Given the description of an element on the screen output the (x, y) to click on. 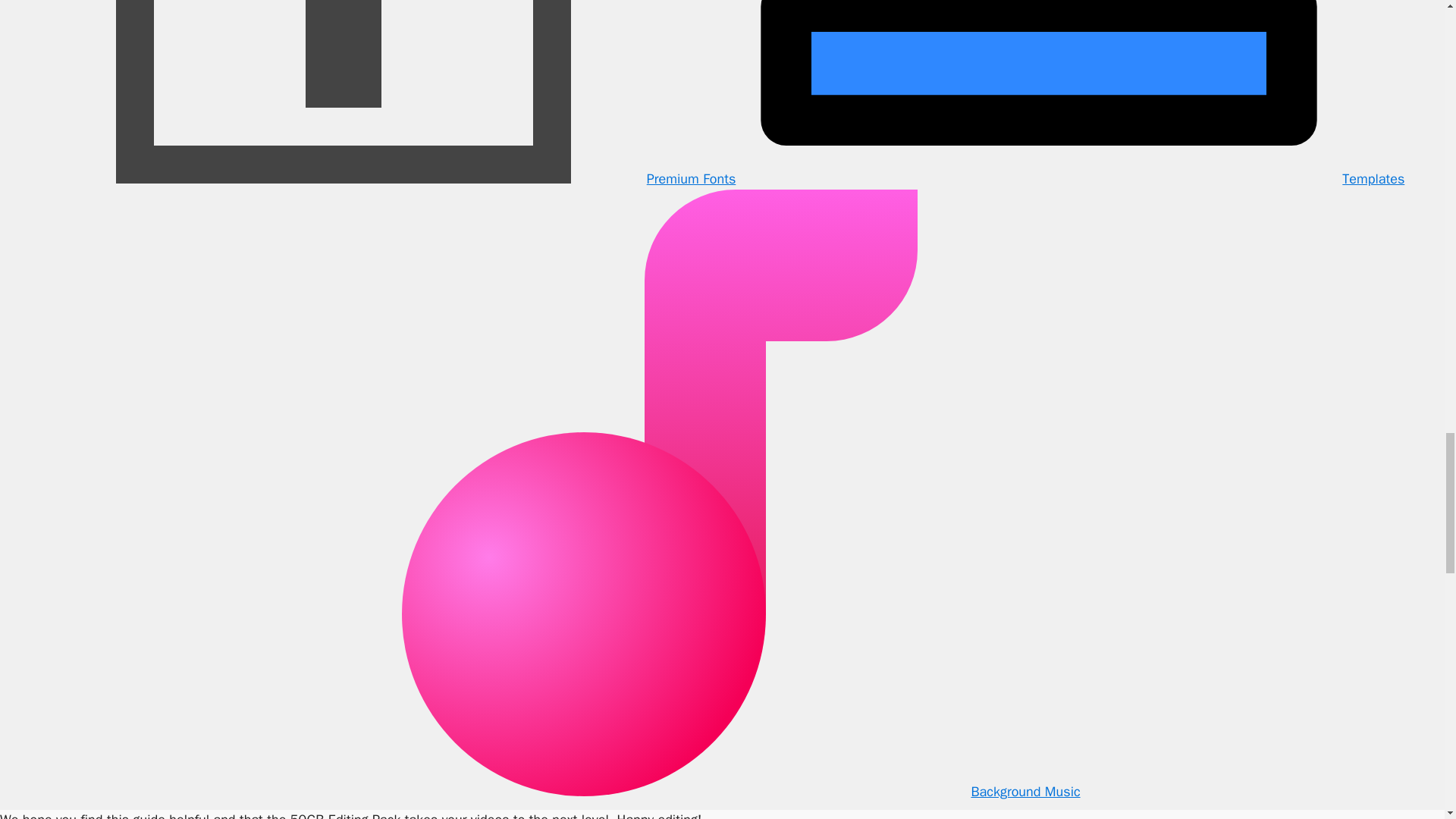
Premium Fonts (388, 178)
Templates (1070, 178)
Background Music (722, 791)
